Given the description of an element on the screen output the (x, y) to click on. 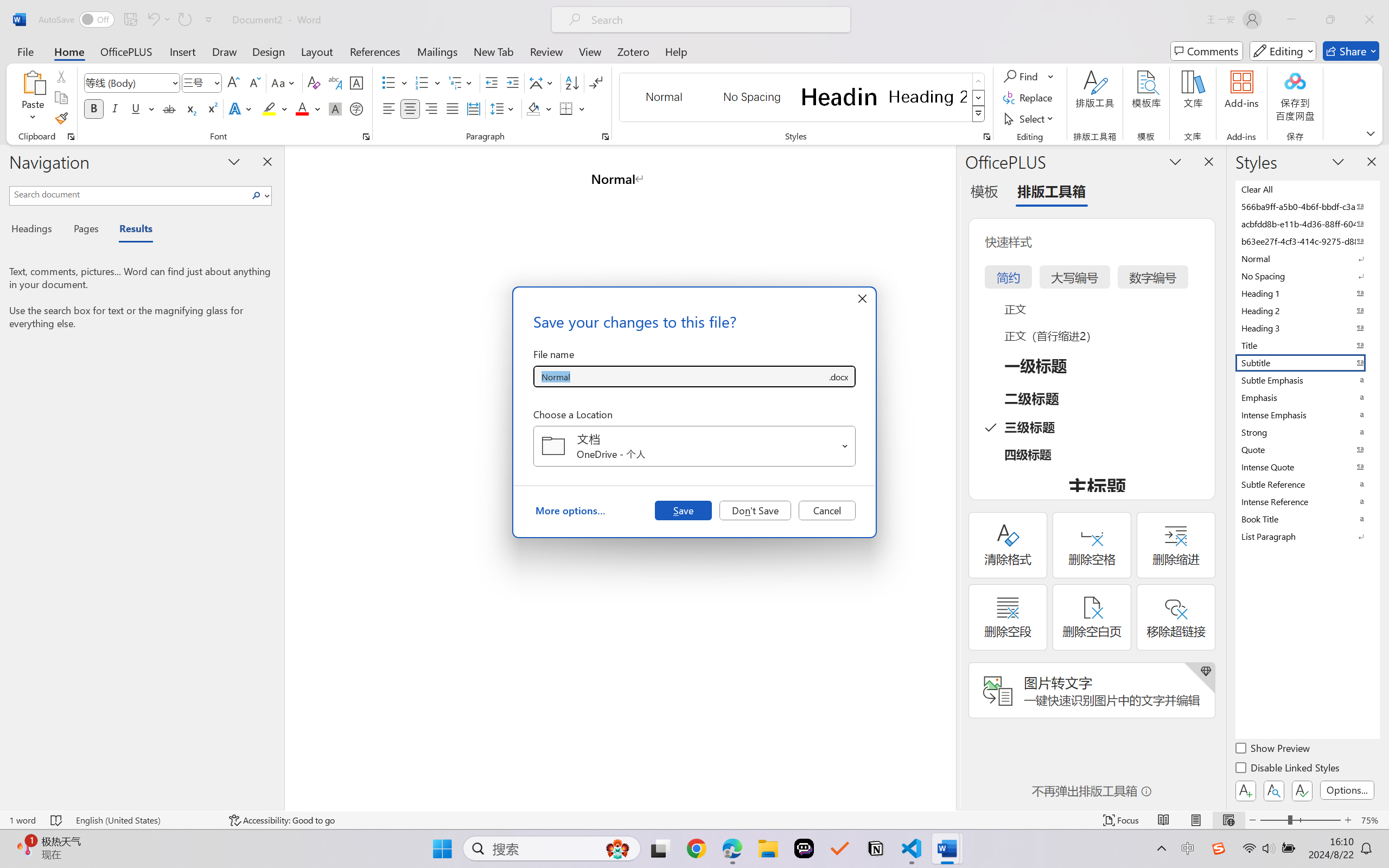
Clear All (1306, 188)
b63ee27f-4cf3-414c-9275-d88e3f90795e (1306, 240)
Language English (United States) (144, 819)
Class: NetUIButton (1301, 790)
Phonetic Guide... (334, 82)
Subtle Reference (1306, 484)
Italic (115, 108)
Underline (142, 108)
Results (130, 229)
Intense Reference (1306, 501)
Layout (316, 51)
